Given the description of an element on the screen output the (x, y) to click on. 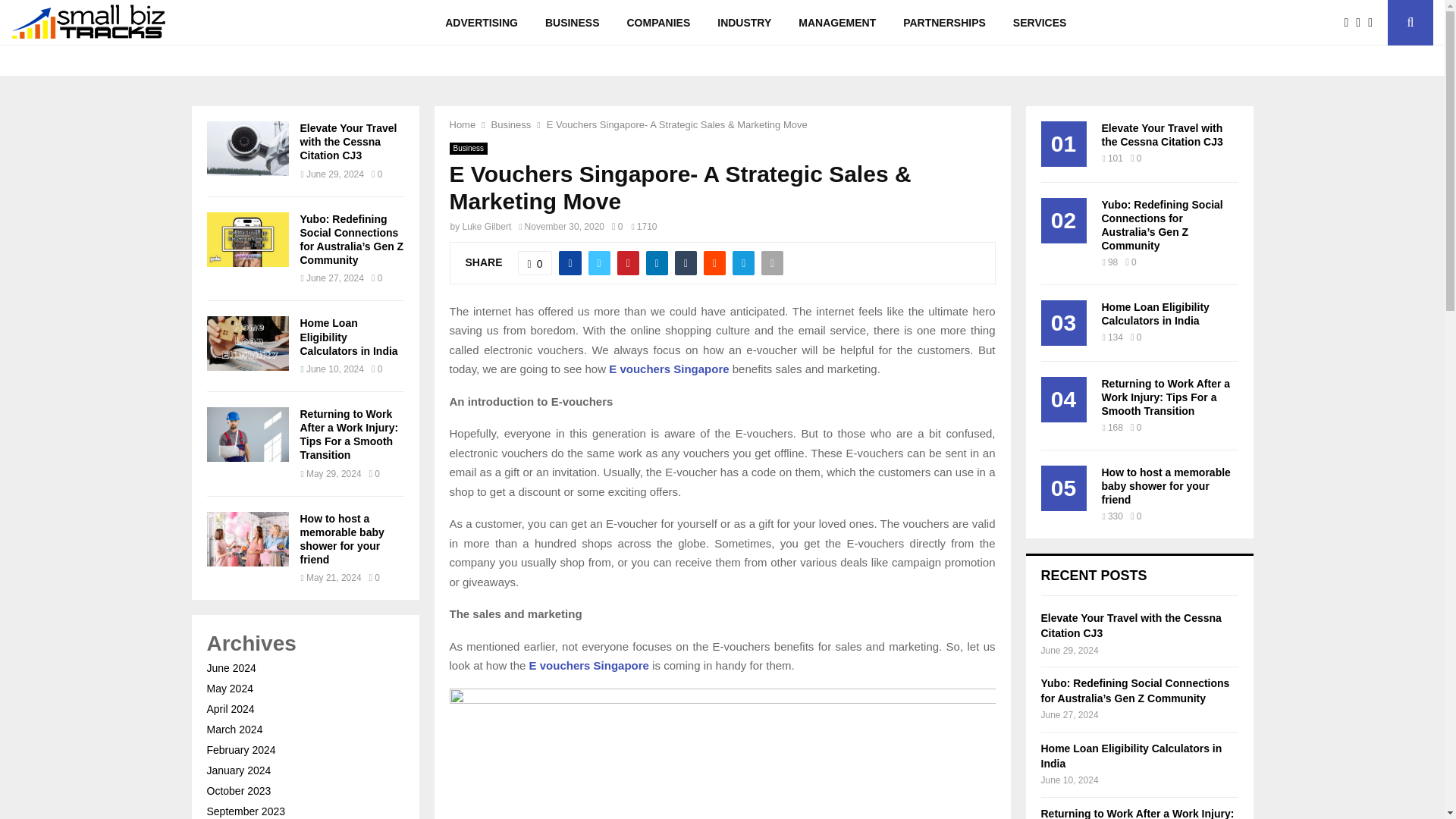
E vouchers Singapore (589, 665)
COMPANIES (657, 22)
MANAGEMENT (836, 22)
PARTNERSHIPS (943, 22)
0 (617, 226)
Business (467, 148)
BUSINESS (571, 22)
Business (511, 124)
SERVICES (1039, 22)
E vouchers Singapore (668, 368)
INDUSTRY (743, 22)
0 (535, 262)
Luke Gilbert (487, 226)
Like (535, 262)
Home (462, 124)
